Given the description of an element on the screen output the (x, y) to click on. 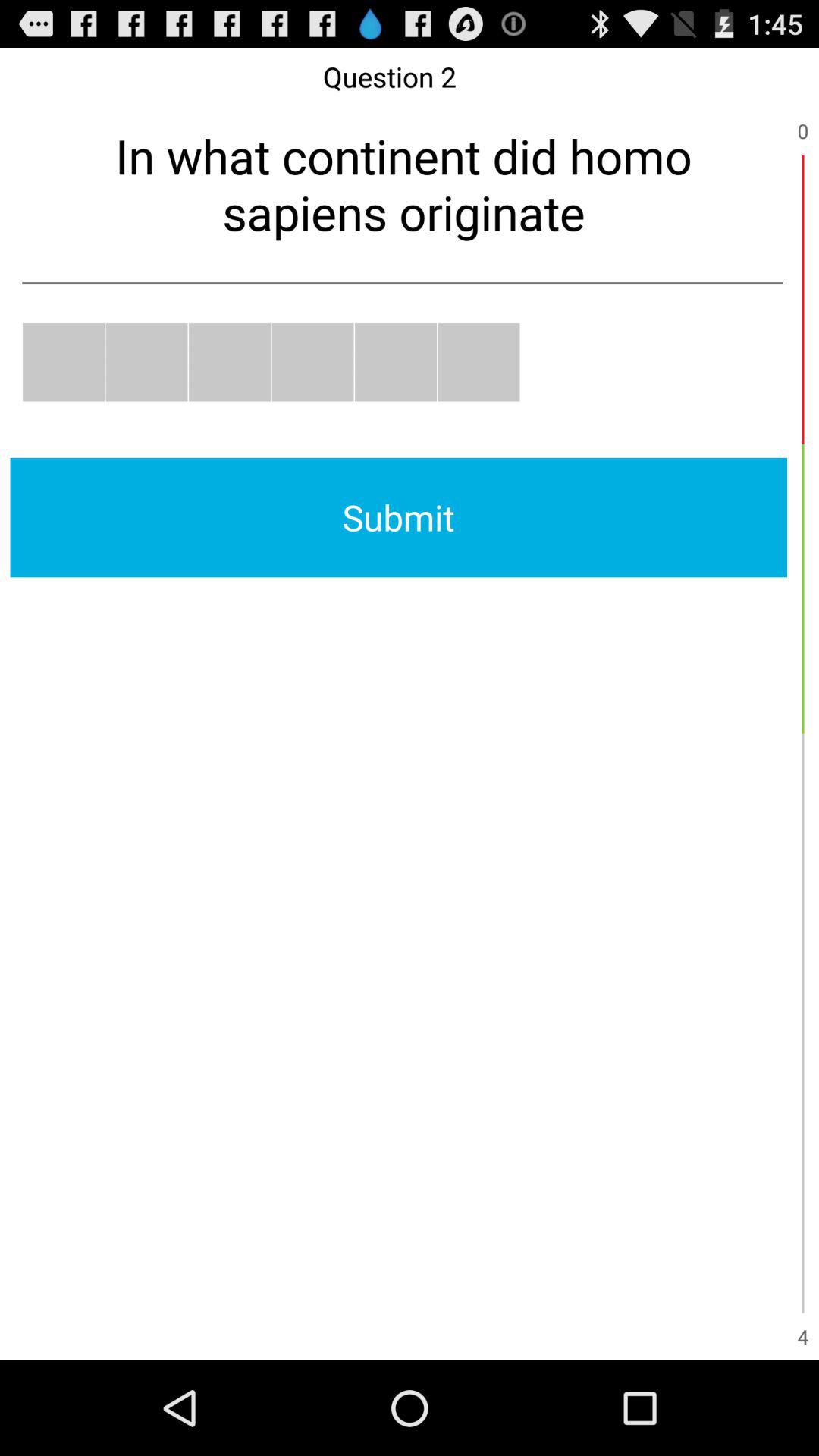
click item to the right of in what continent item (802, 299)
